Given the description of an element on the screen output the (x, y) to click on. 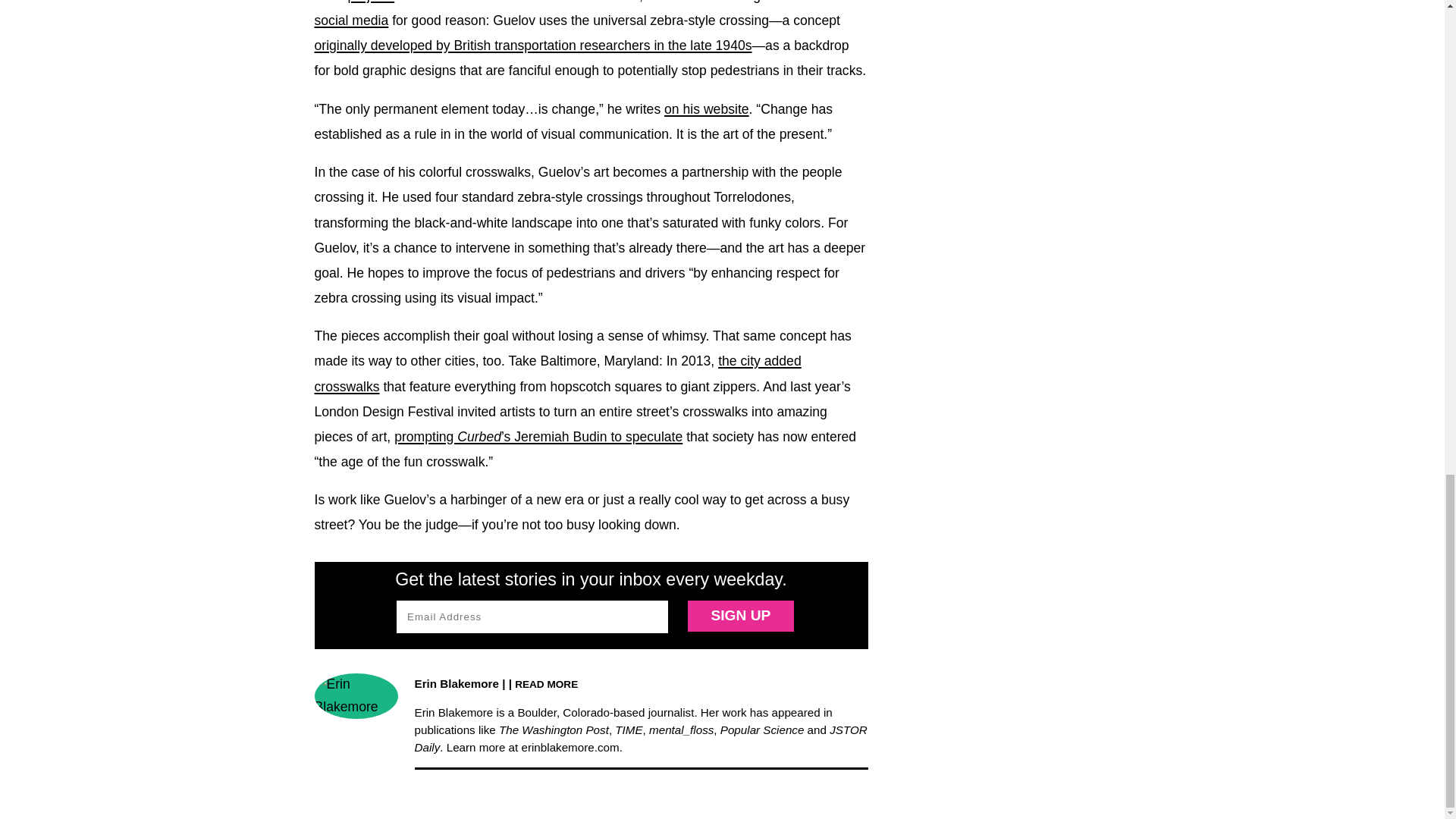
Read more from this author (546, 683)
Sign Up (740, 615)
